Given the description of an element on the screen output the (x, y) to click on. 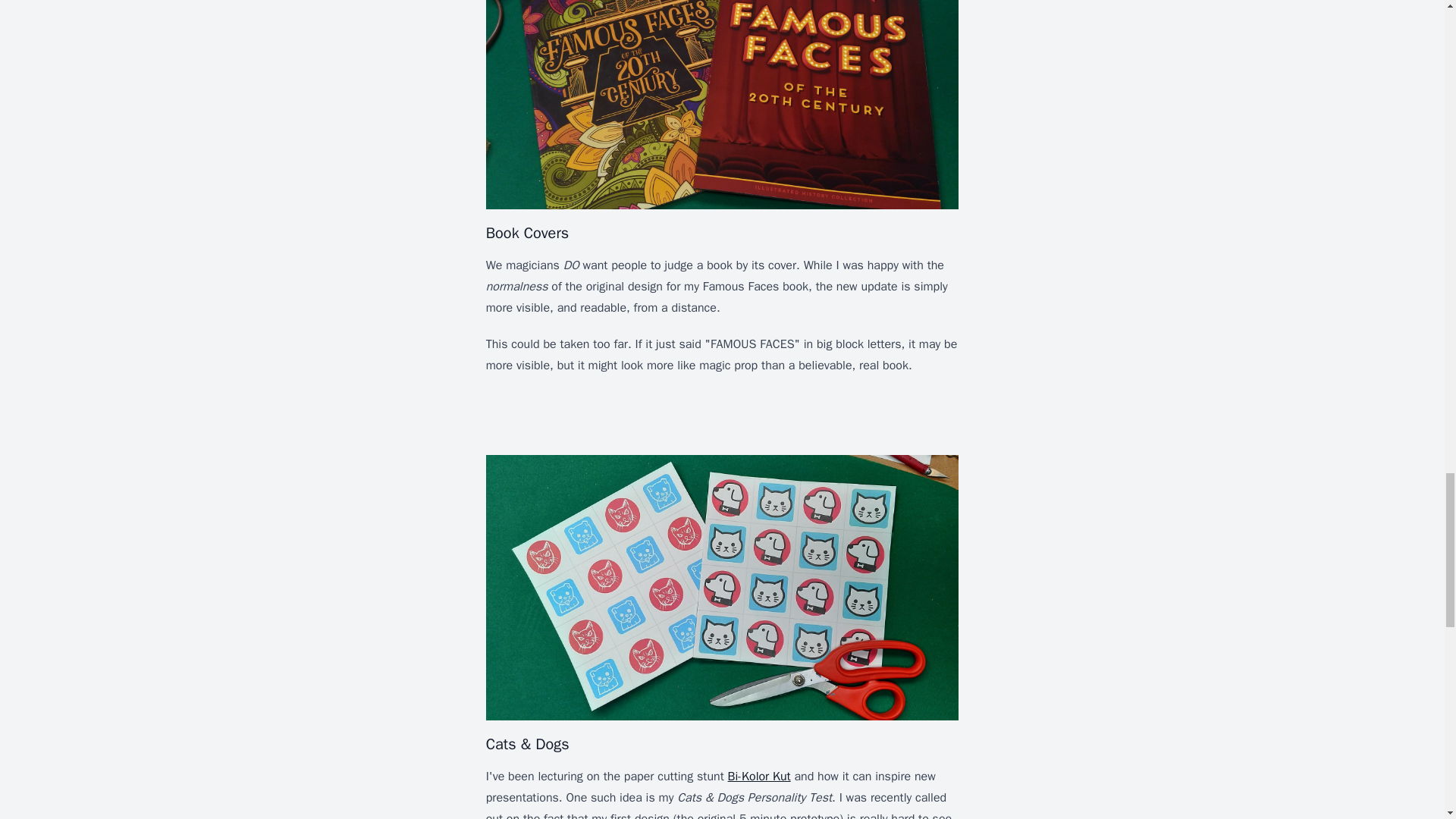
Bi-Kolor Kut (759, 776)
